Given the description of an element on the screen output the (x, y) to click on. 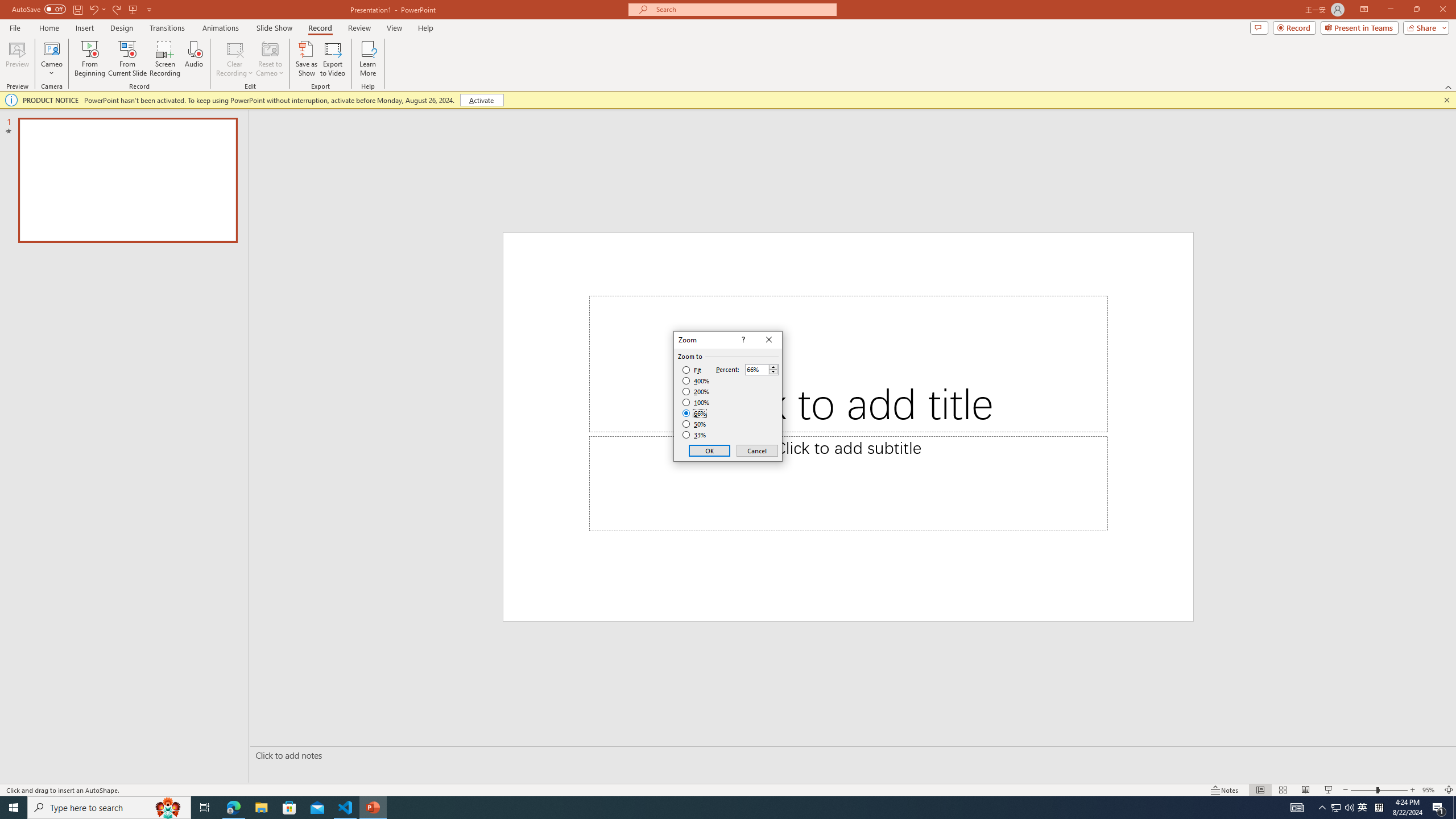
Action Center, 1 new notification (1439, 807)
Learn More (368, 58)
Close this message (1446, 99)
Percent (761, 369)
Save as Show (306, 58)
